Given the description of an element on the screen output the (x, y) to click on. 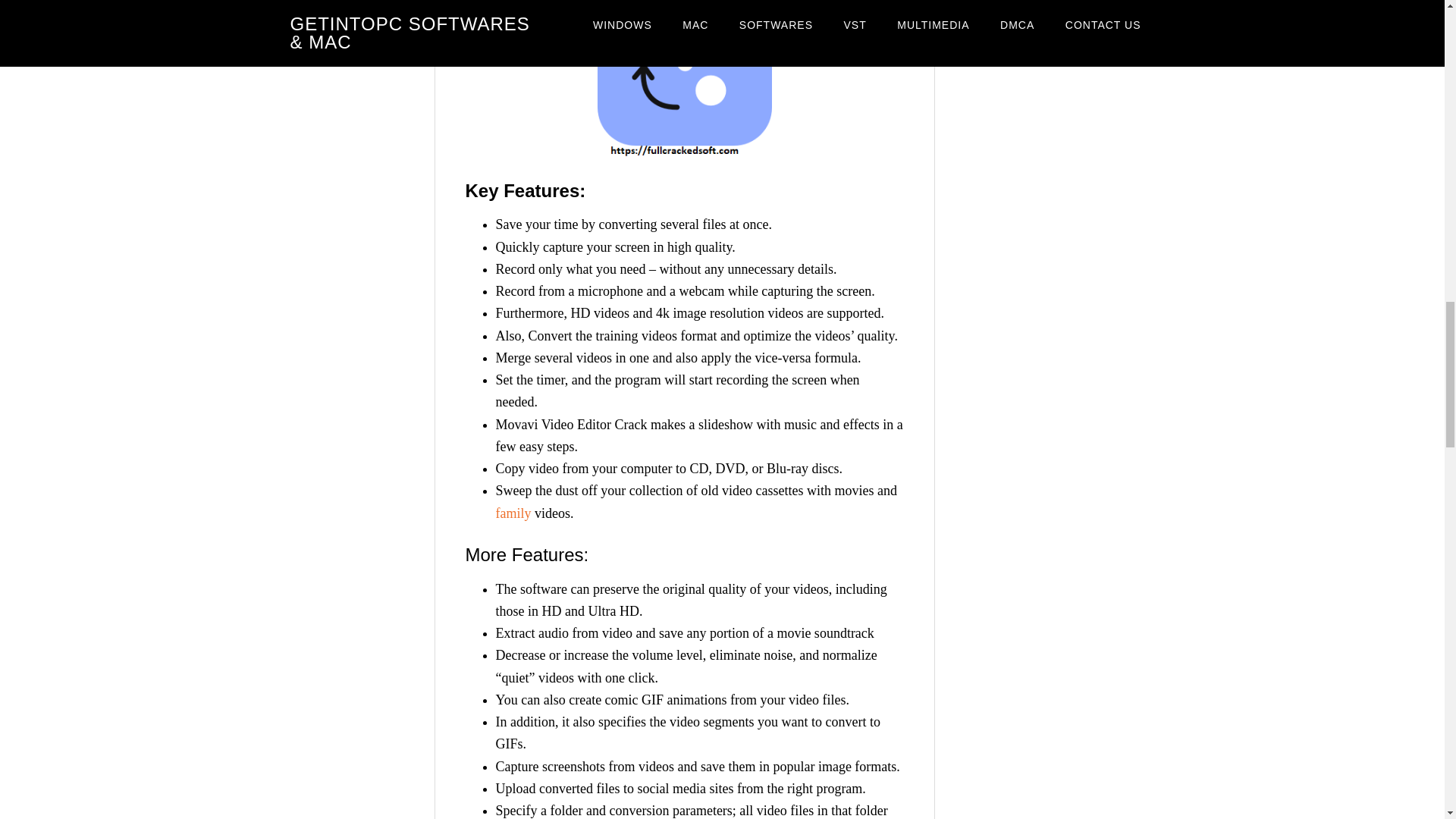
family (513, 513)
